Given the description of an element on the screen output the (x, y) to click on. 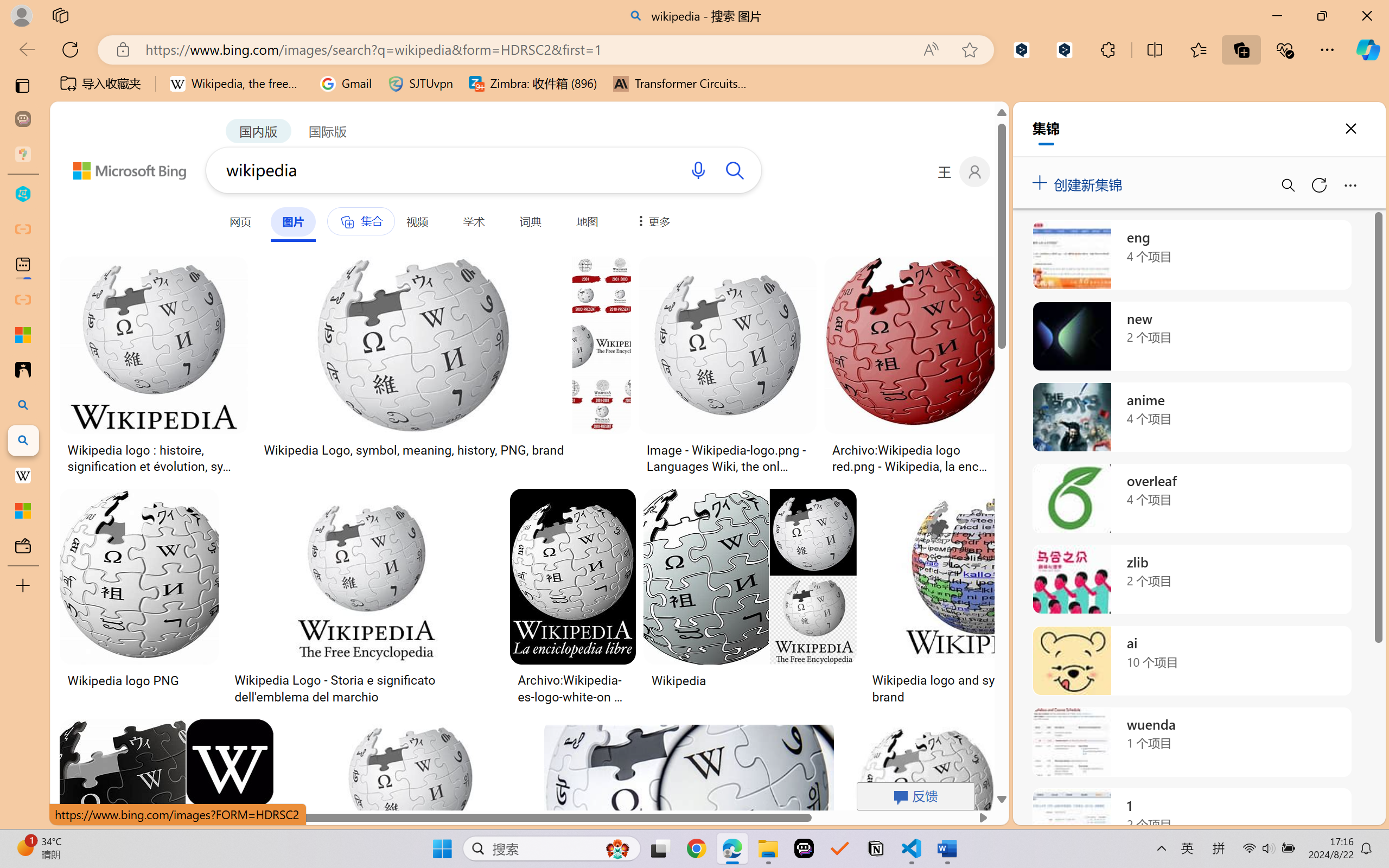
Insert Captions (535, 62)
Insert Captions (535, 51)
